Given the description of an element on the screen output the (x, y) to click on. 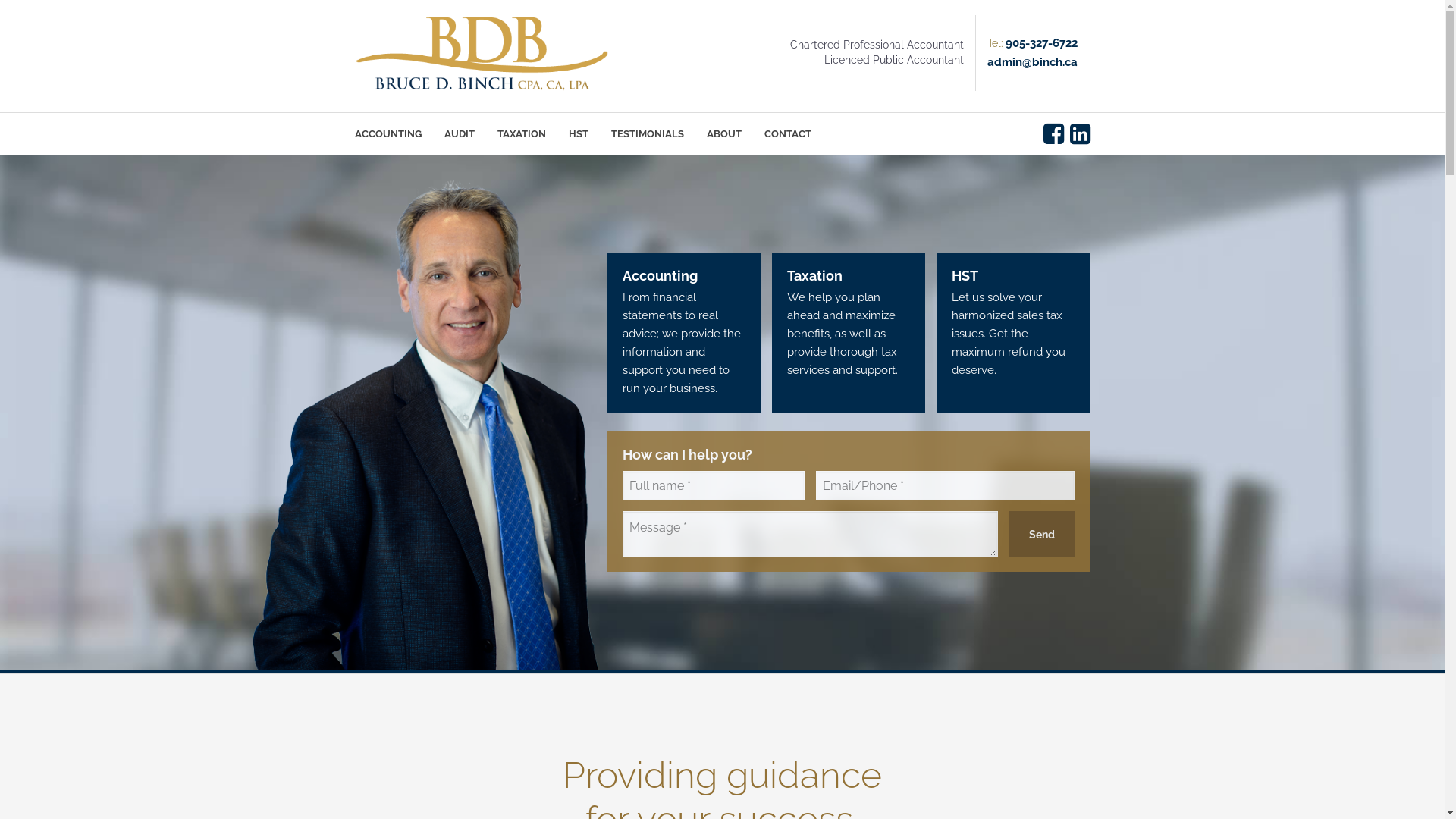
TAXATION Element type: text (520, 133)
AUDIT Element type: text (458, 133)
ACCOUNTING Element type: text (387, 133)
HST Element type: text (577, 133)
Send Element type: text (1042, 533)
Bruce Binch on LinkedIn Element type: hover (1079, 133)
Bruce Binch on Facebook Element type: hover (1053, 133)
TESTIMONIALS Element type: text (646, 133)
admin@binch.ca Element type: text (1032, 62)
CONTACT Element type: text (787, 133)
ABOUT Element type: text (723, 133)
